Given the description of an element on the screen output the (x, y) to click on. 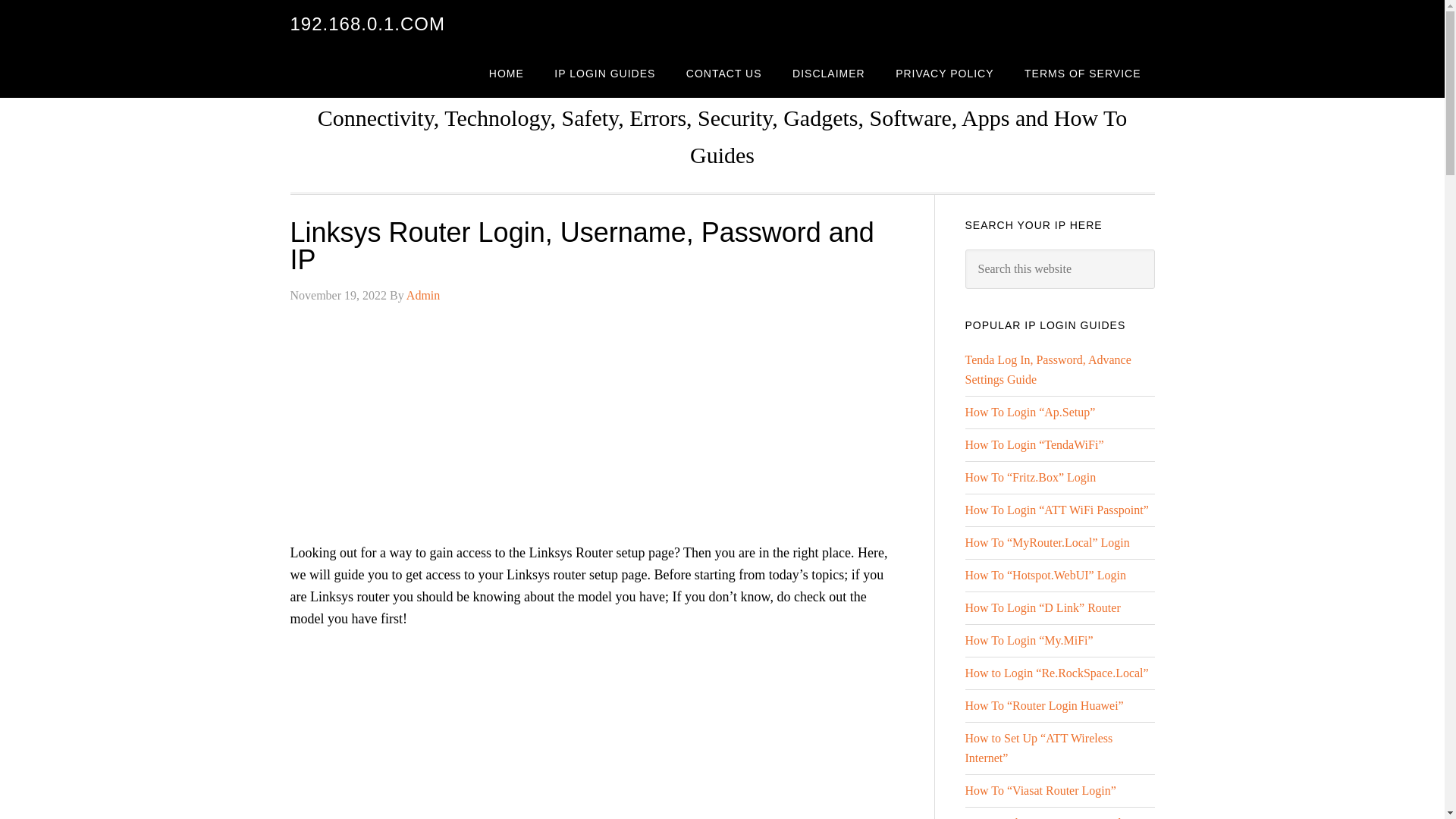
DISCLAIMER (828, 72)
PRIVACY POLICY (944, 72)
IP LOGIN GUIDES (604, 72)
192.168.0.1.COM (366, 23)
How To Change WiFi Password Etisalat (1042, 817)
Tenda Log In, Password, Advance Settings Guide (1047, 368)
CONTACT US (724, 72)
